Given the description of an element on the screen output the (x, y) to click on. 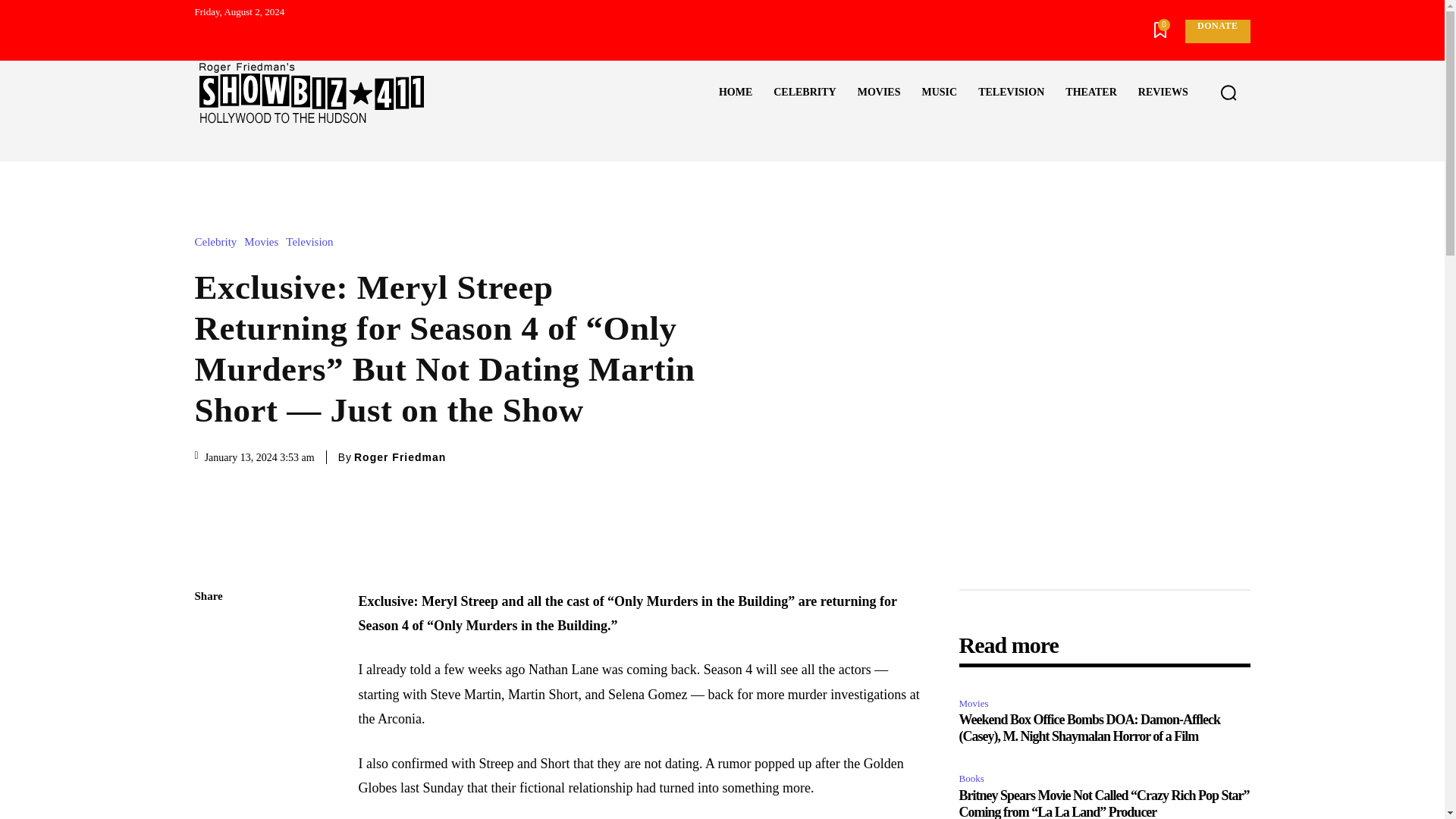
DONATE (1217, 31)
Celebrity (218, 242)
HOME (734, 92)
MOVIES (879, 92)
REVIEWS (1162, 92)
THEATER (1090, 92)
CELEBRITY (803, 92)
Donate (1217, 31)
MUSIC (939, 92)
TELEVISION (1011, 92)
